Given the description of an element on the screen output the (x, y) to click on. 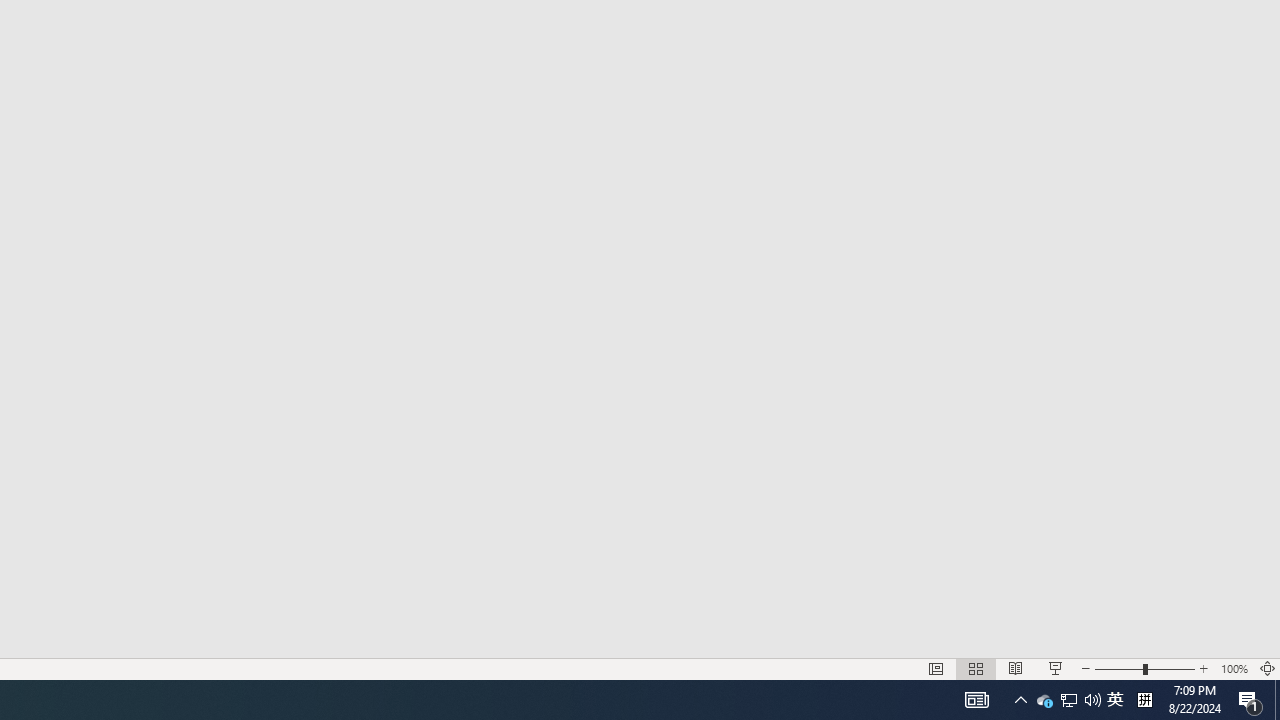
Zoom 100% (1234, 668)
